Given the description of an element on the screen output the (x, y) to click on. 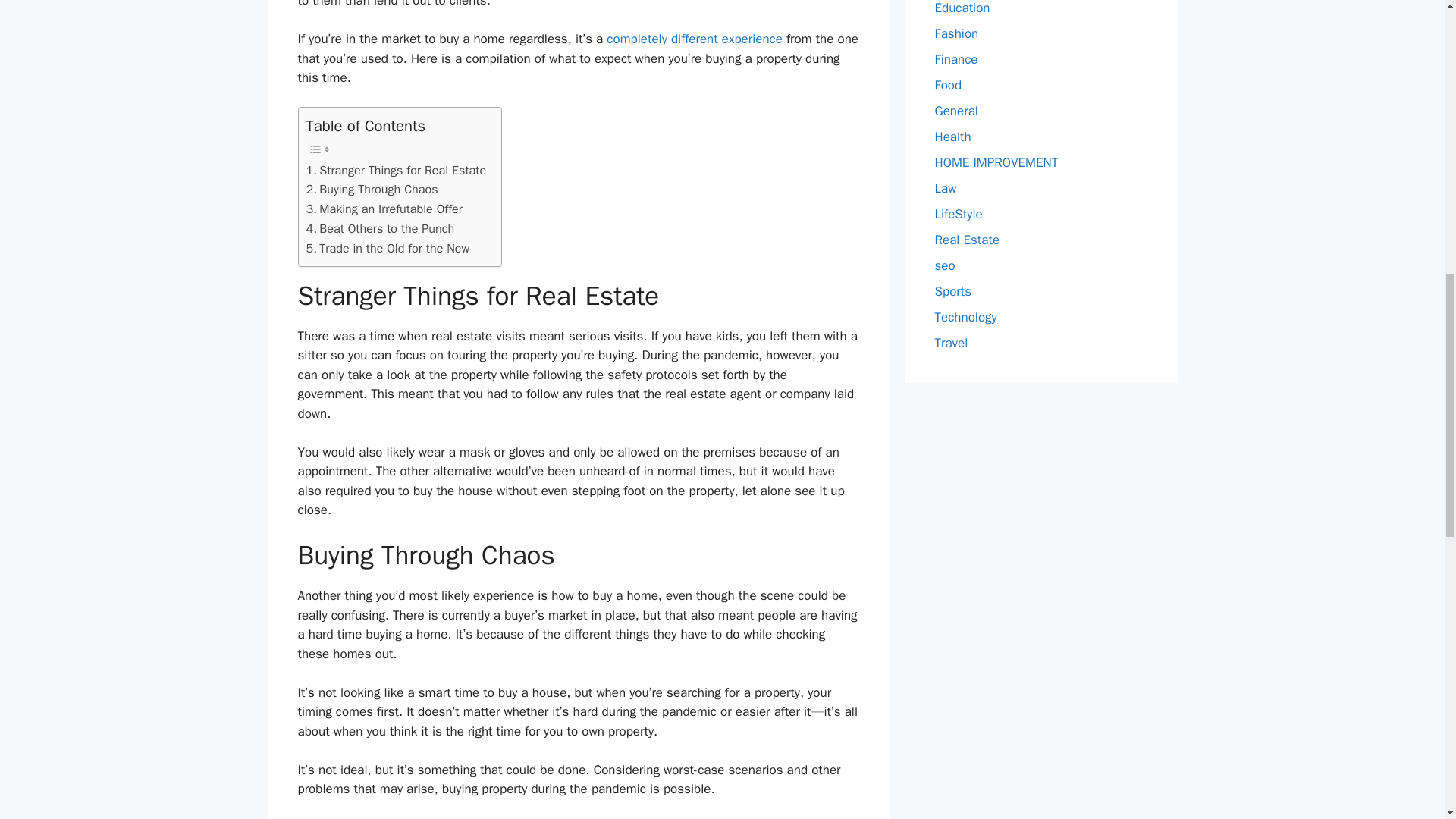
Beat Others to the Punch (379, 229)
Making an Irrefutable Offer (384, 209)
Buying Through Chaos (371, 189)
Education (962, 7)
Trade in the Old for the New (387, 248)
Making an Irrefutable Offer (384, 209)
Stranger Things for Real Estate (395, 170)
Beat Others to the Punch (379, 229)
Scroll back to top (1406, 720)
Buying Through Chaos (371, 189)
completely different experience (695, 38)
Trade in the Old for the New (387, 248)
Stranger Things for Real Estate (395, 170)
